Given the description of an element on the screen output the (x, y) to click on. 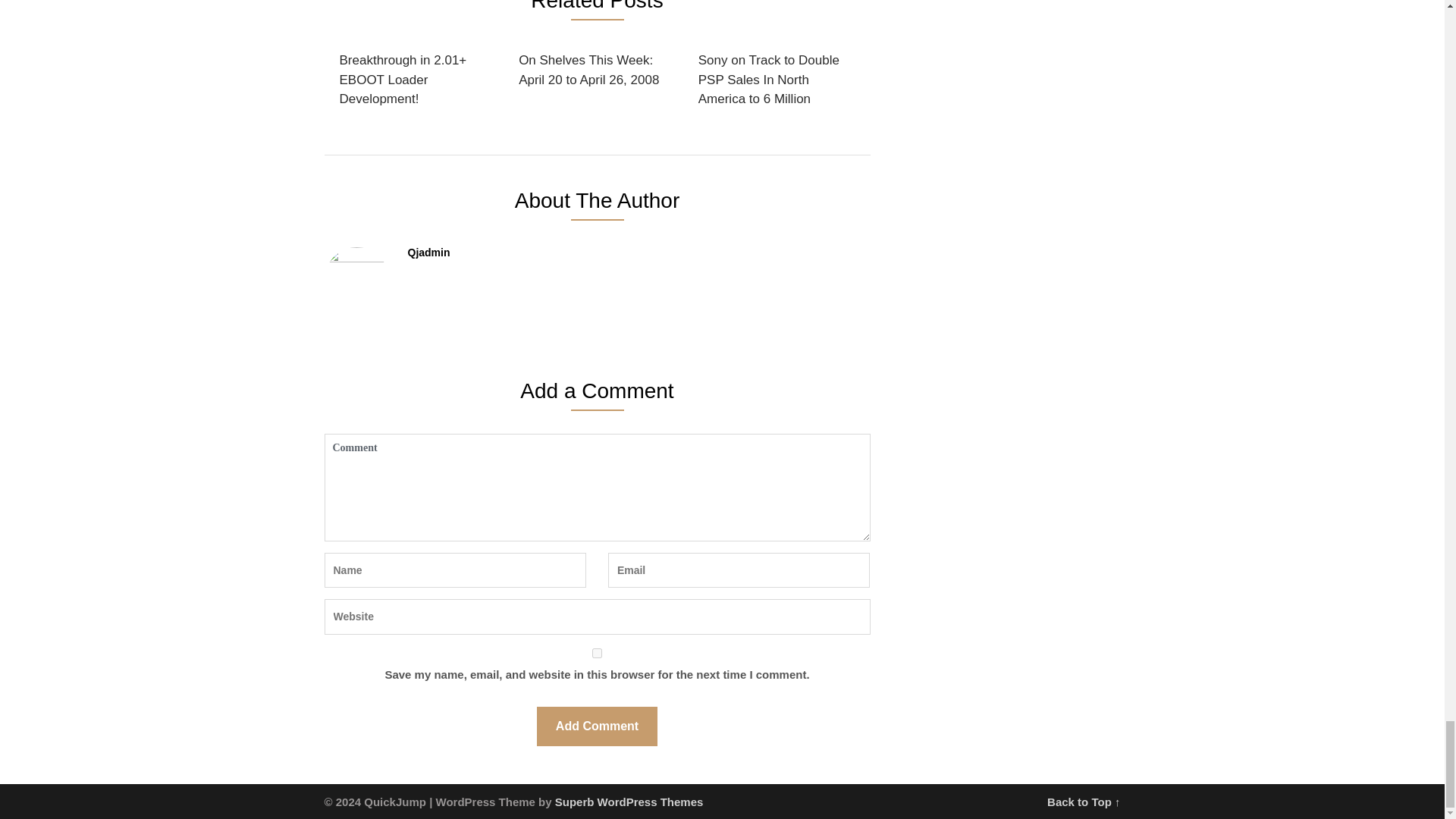
yes (597, 653)
Add Comment (597, 726)
